Given the description of an element on the screen output the (x, y) to click on. 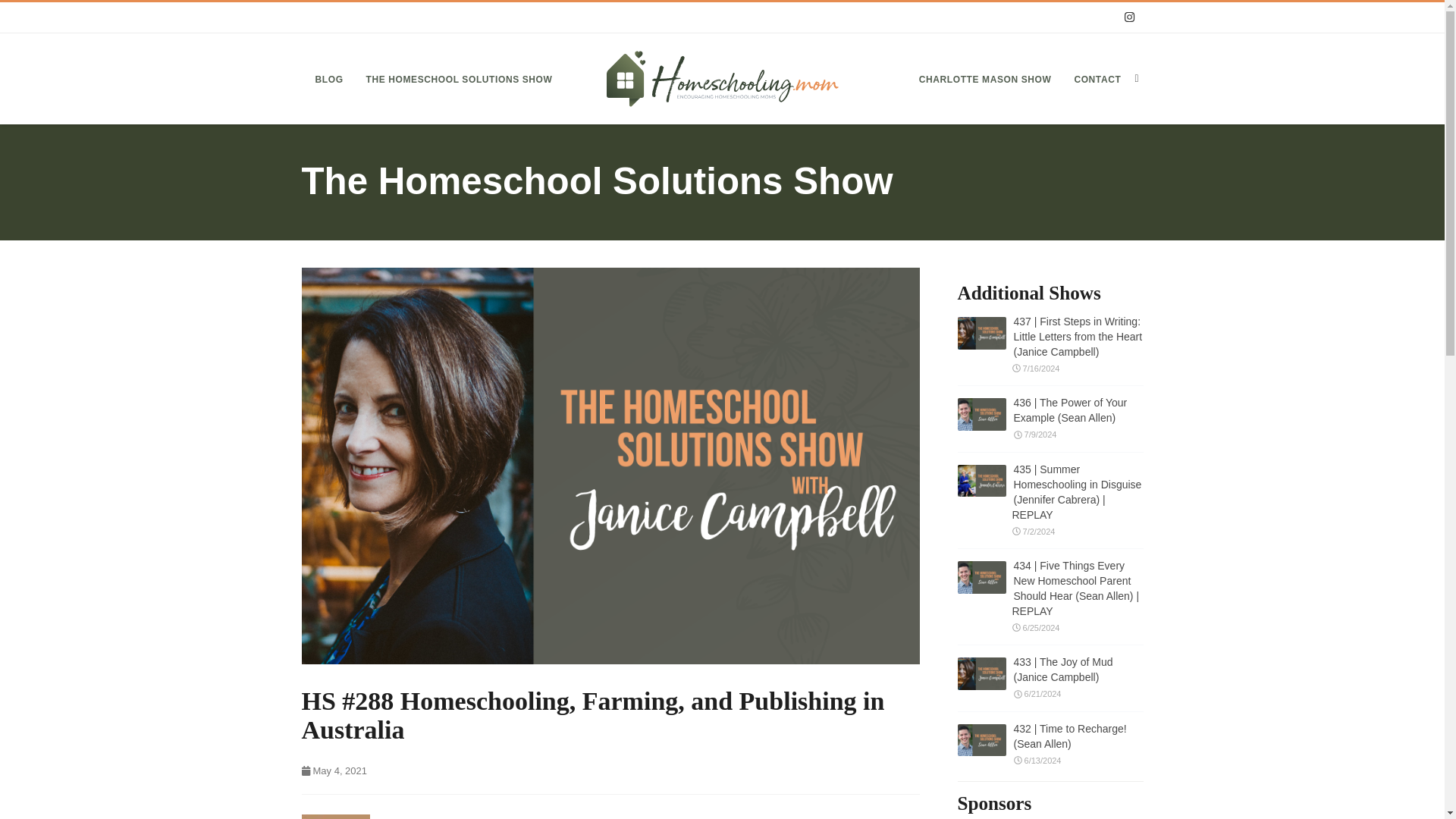
THE HOMESCHOOL SOLUTIONS SHOW (459, 79)
BLOG (328, 79)
CHARLOTTE MASON SHOW (985, 79)
CONTACT (1096, 79)
